Given the description of an element on the screen output the (x, y) to click on. 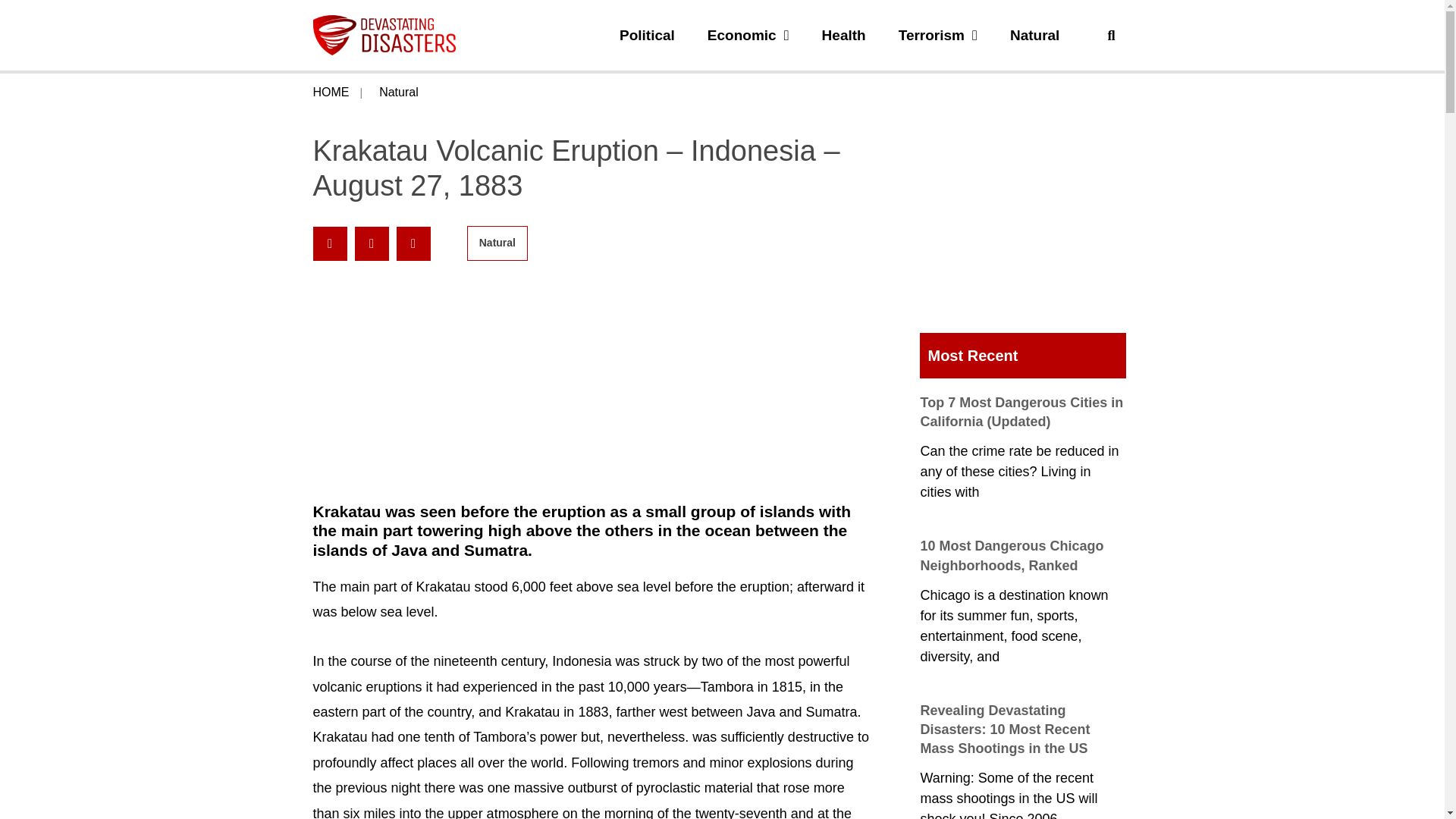
Natural (1034, 35)
Political (646, 35)
Advertisement (1022, 226)
Health (844, 35)
Economic (747, 35)
Terrorism (937, 35)
HOME (331, 92)
Advertisement (594, 380)
Natural (398, 92)
